Given the description of an element on the screen output the (x, y) to click on. 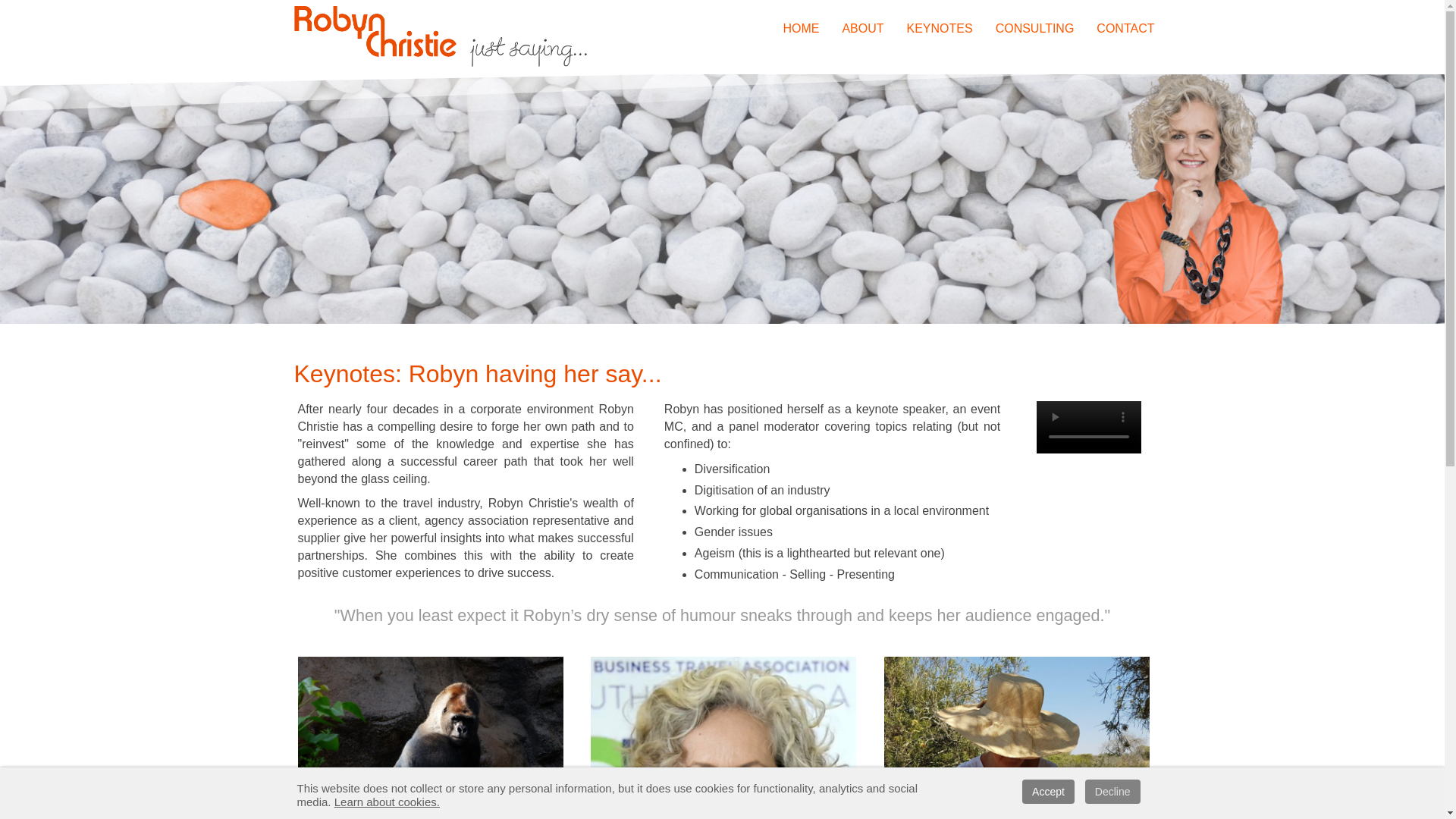
KEYNOTES (939, 28)
Robyn Christie - just saying (440, 34)
Accept (1048, 791)
CONTACT (1125, 28)
CONTACT (1125, 28)
ABOUT (862, 28)
Learn about cookies. (386, 801)
CONSULTING (1034, 28)
Decline (1112, 791)
